Given the description of an element on the screen output the (x, y) to click on. 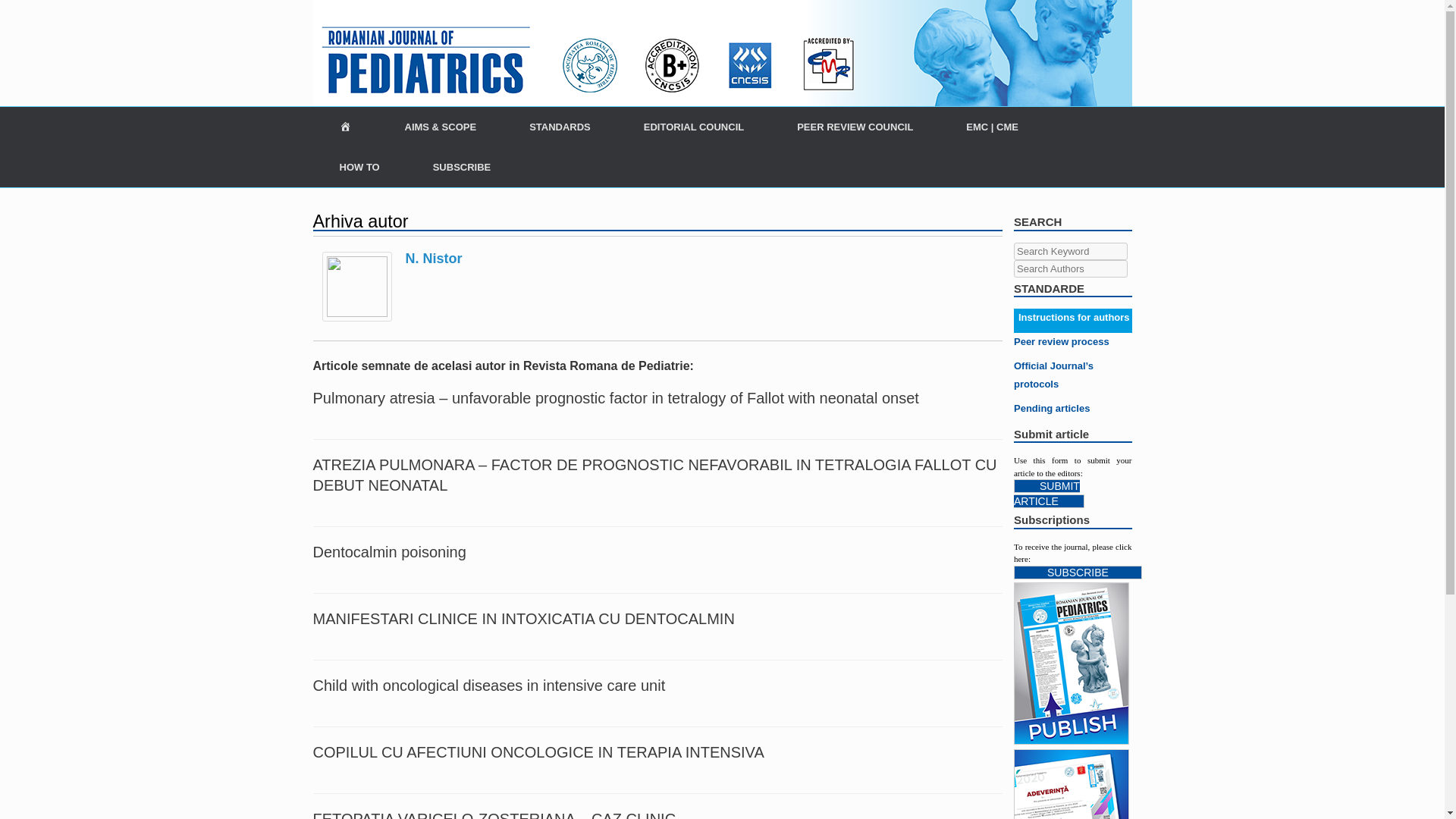
N. Nistor (356, 317)
Romanian Journal of Pediatrics (722, 53)
HOME (345, 127)
EDITORIAL COUNCIL (693, 127)
HOW TO (359, 167)
Permalink to Dentocalmin poisoning (389, 551)
N. Nistor (432, 258)
PEER REVIEW COUNCIL (854, 127)
STANDARDS (559, 127)
SUBSCRIBE (462, 167)
